Given the description of an element on the screen output the (x, y) to click on. 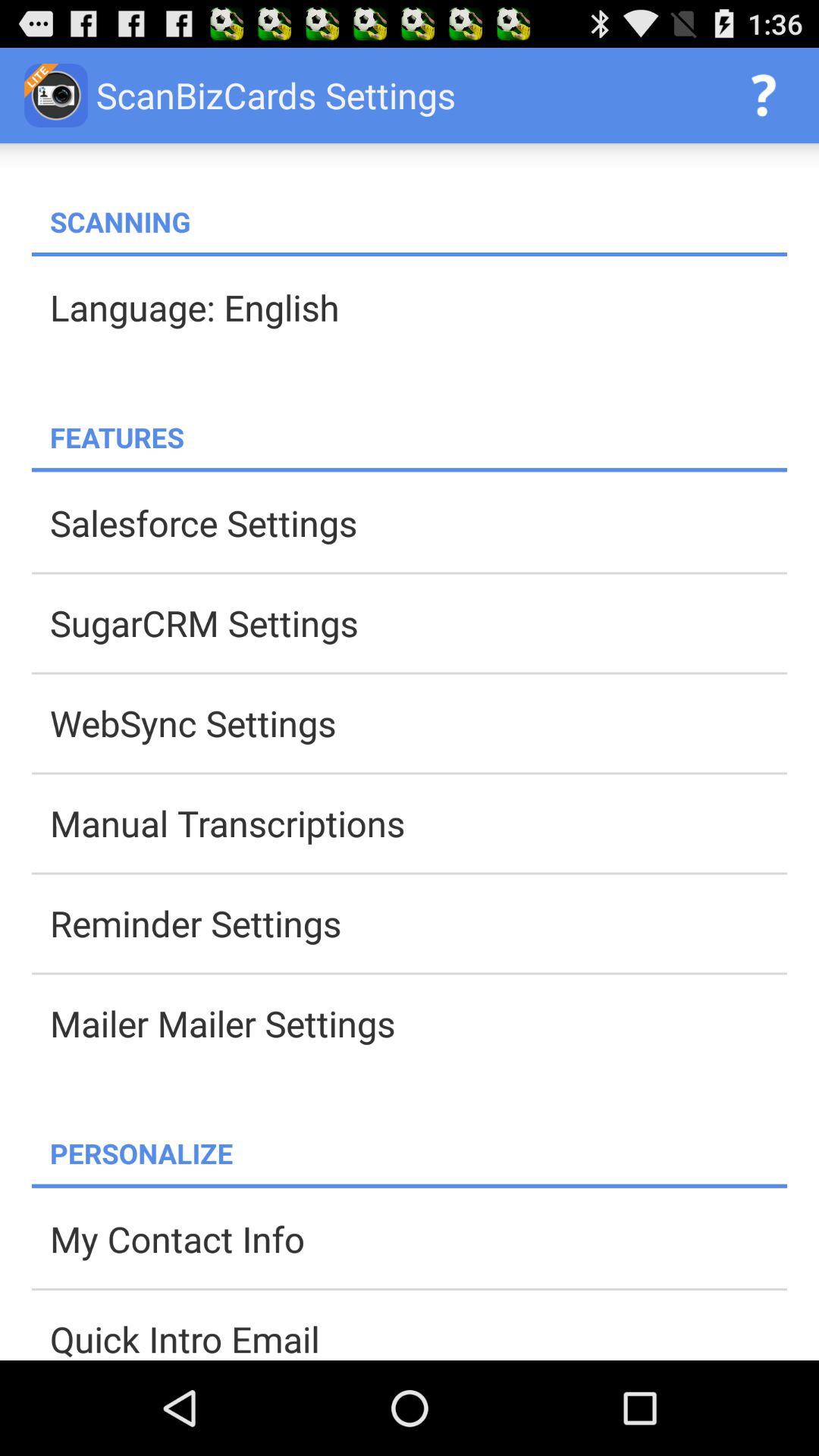
choose the icon below language: english icon (418, 437)
